Given the description of an element on the screen output the (x, y) to click on. 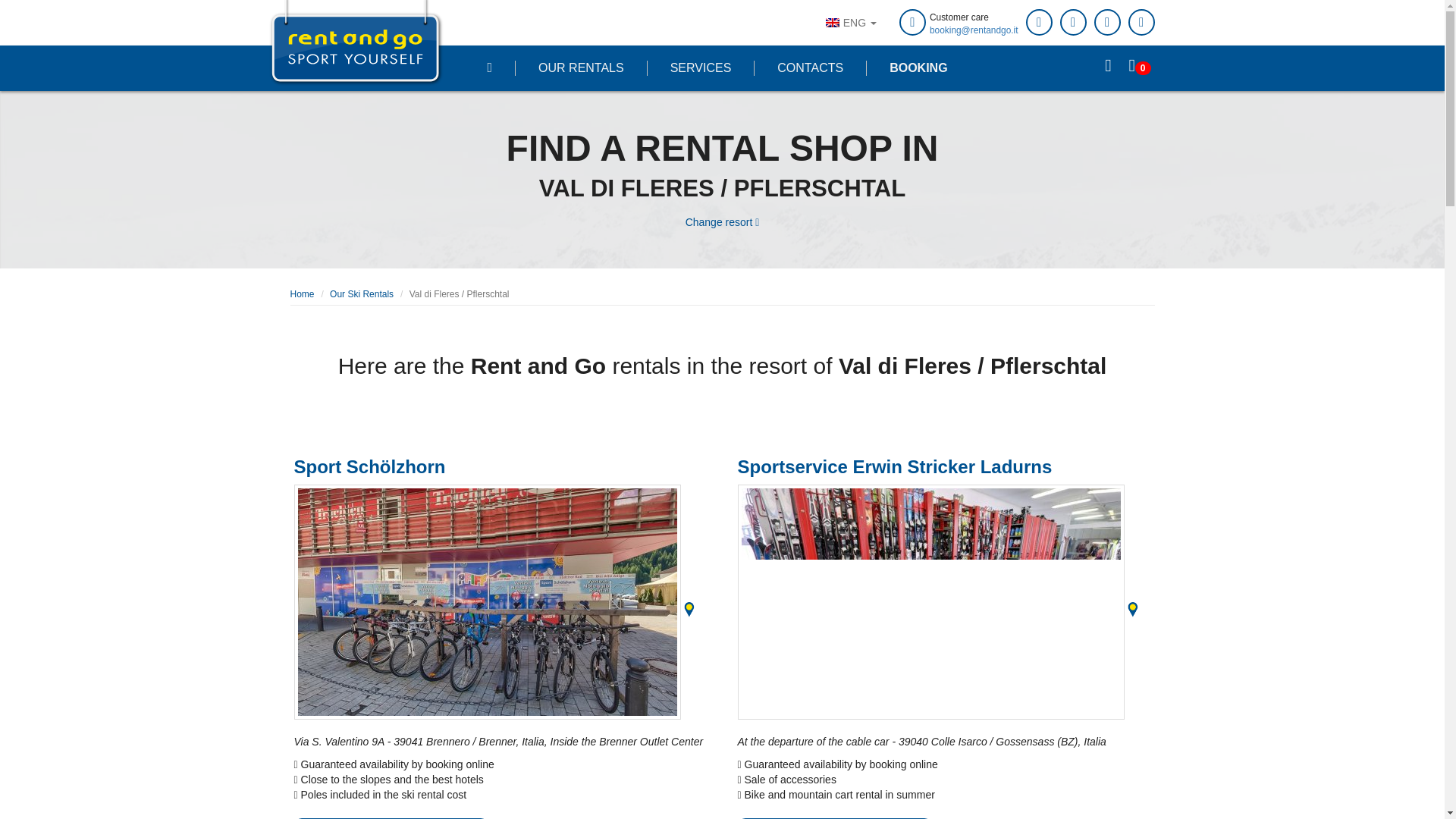
Change resort (721, 222)
Our Ski Rentals (361, 294)
Home (301, 294)
SERVICES (700, 68)
OUR RENTALS (580, 68)
ENG (850, 22)
BOOKING (917, 68)
CONTACTS (810, 68)
